Given the description of an element on the screen output the (x, y) to click on. 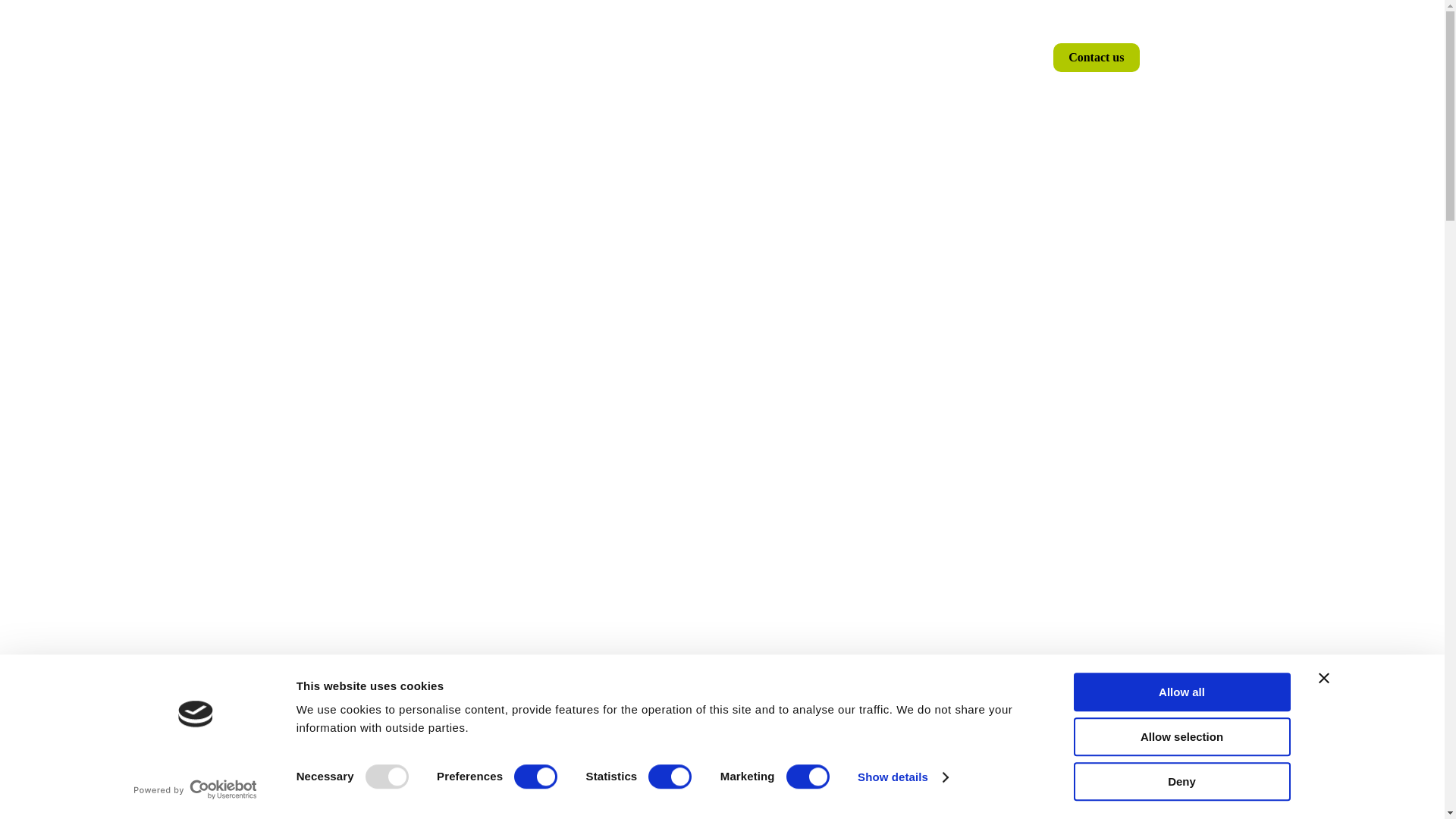
Show details (902, 776)
